Given the description of an element on the screen output the (x, y) to click on. 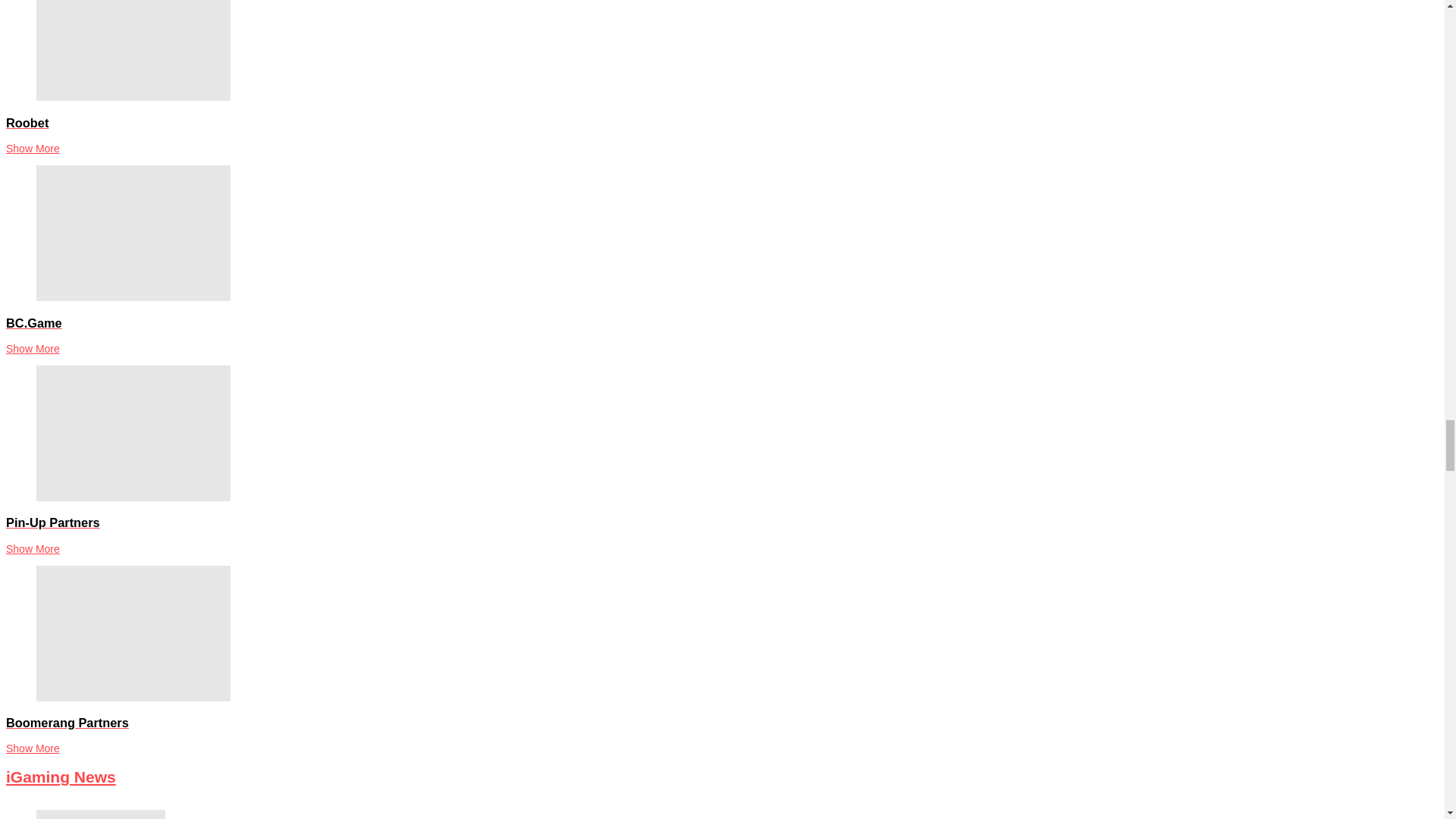
White Hat Studios boosts US expansion with bet365 (100, 814)
